Given the description of an element on the screen output the (x, y) to click on. 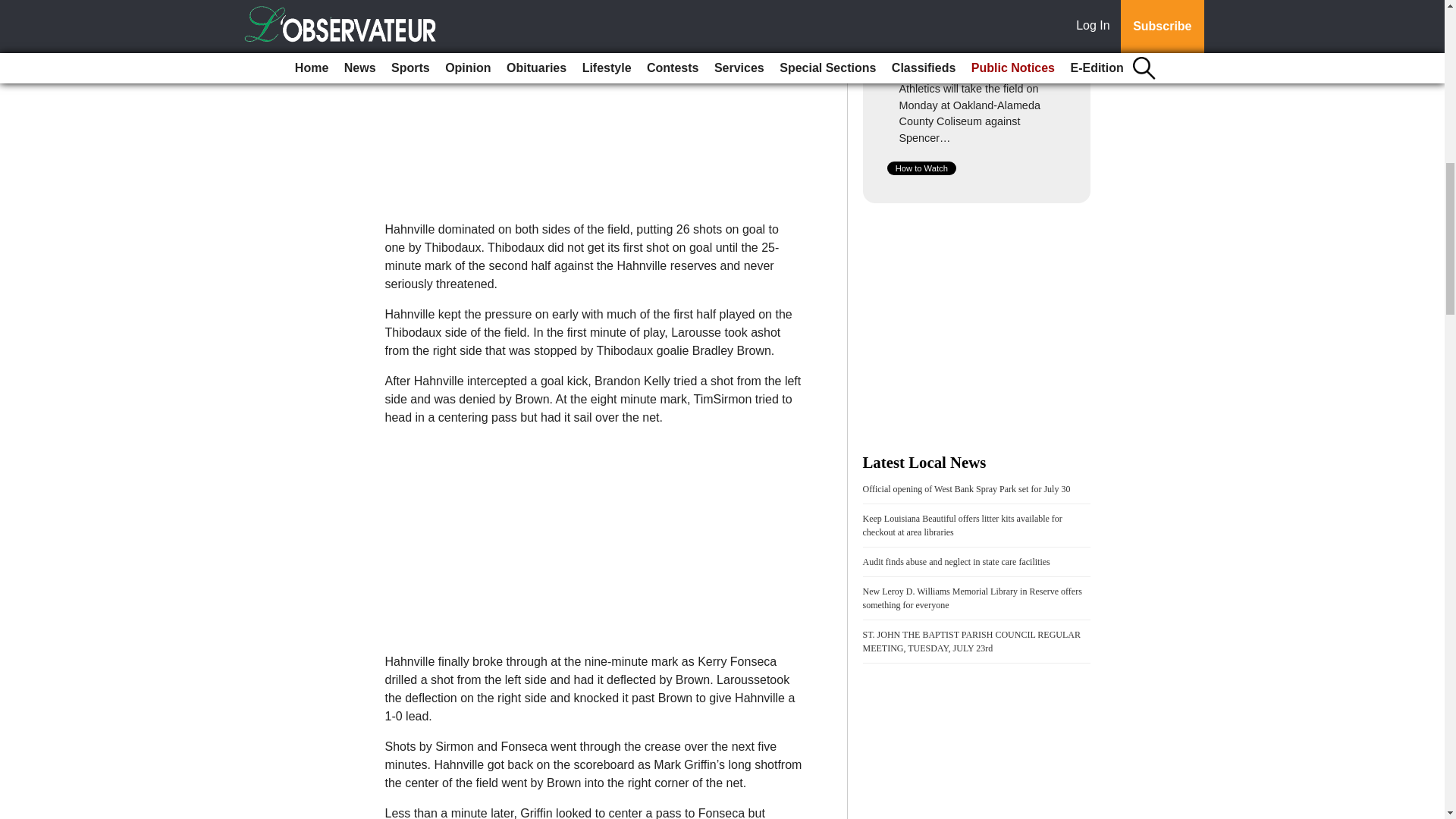
Official opening of West Bank Spray Park set for July 30 (966, 489)
Audit finds abuse and neglect in state care facilities (956, 561)
How to Watch (921, 168)
